Given the description of an element on the screen output the (x, y) to click on. 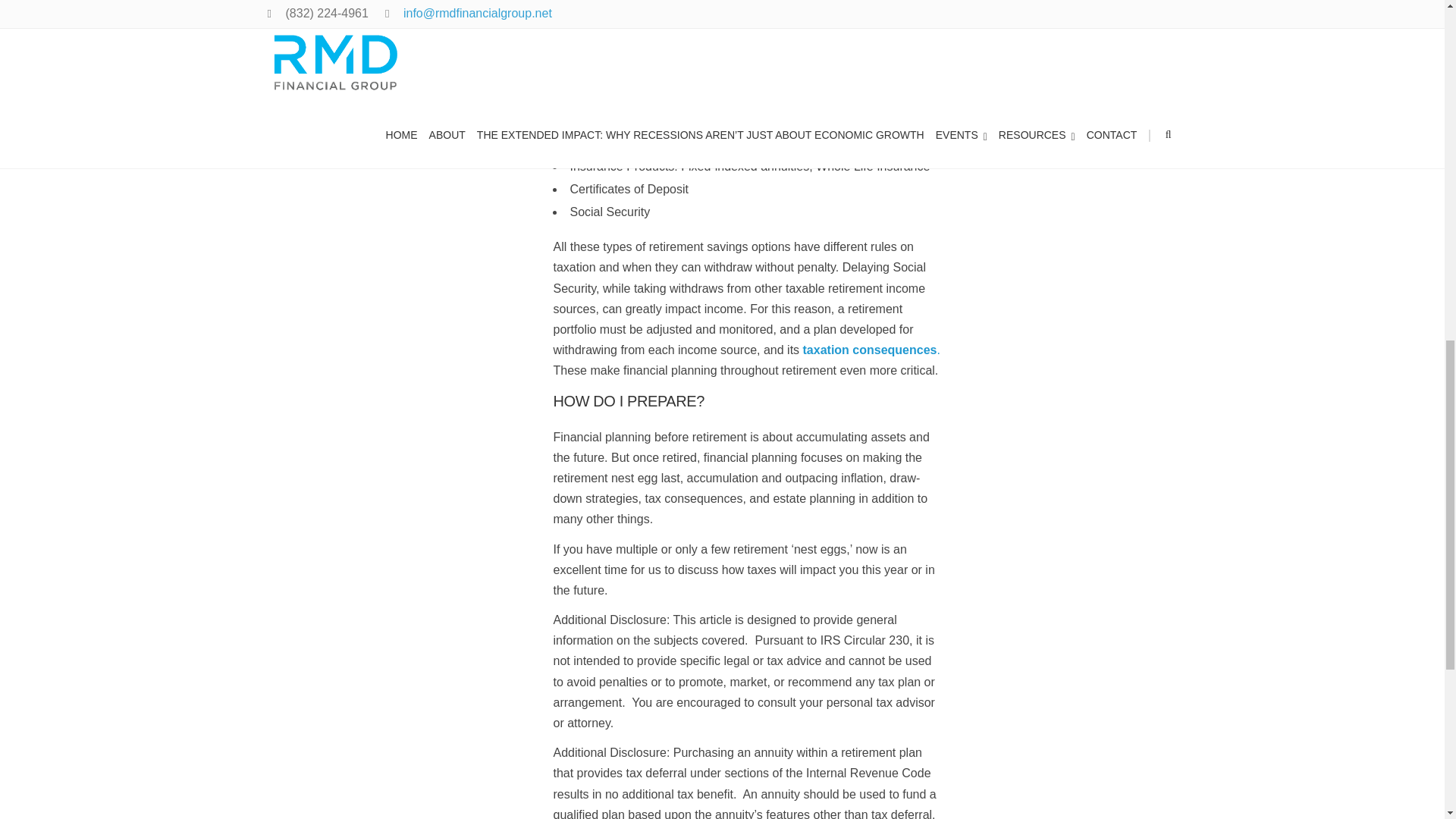
taxation consequences. (871, 349)
